Given the description of an element on the screen output the (x, y) to click on. 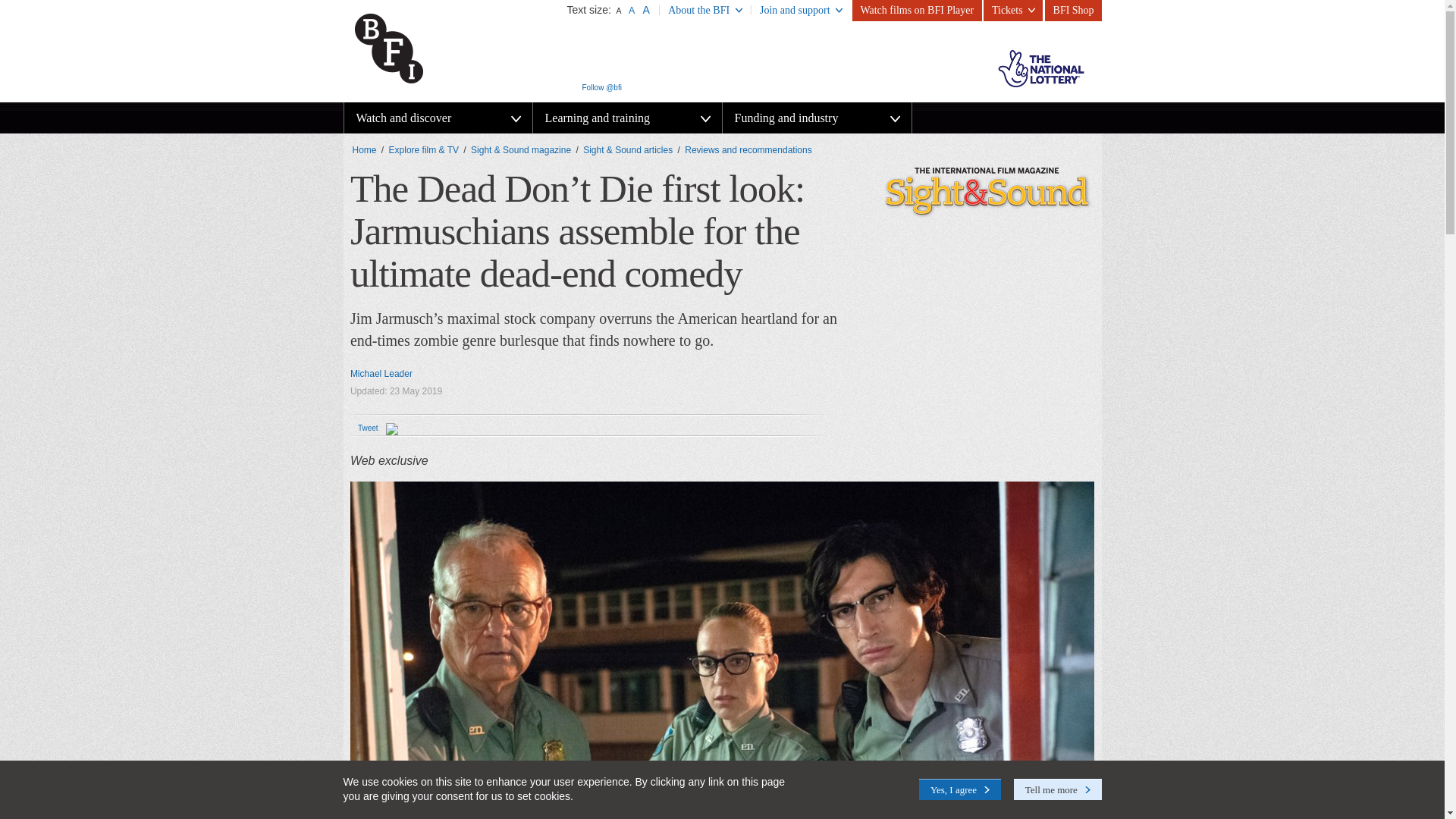
About the BFI (705, 10)
Skip to main content (34, 0)
A (631, 9)
BFI Shop (1073, 10)
Tickets (1013, 10)
National Lottery (1040, 68)
Watch films on BFI Player (916, 10)
BFI Film Forever logo - link to homepage (421, 46)
A (618, 10)
Watch and discover (437, 117)
Join and support (800, 10)
A (646, 9)
